Given the description of an element on the screen output the (x, y) to click on. 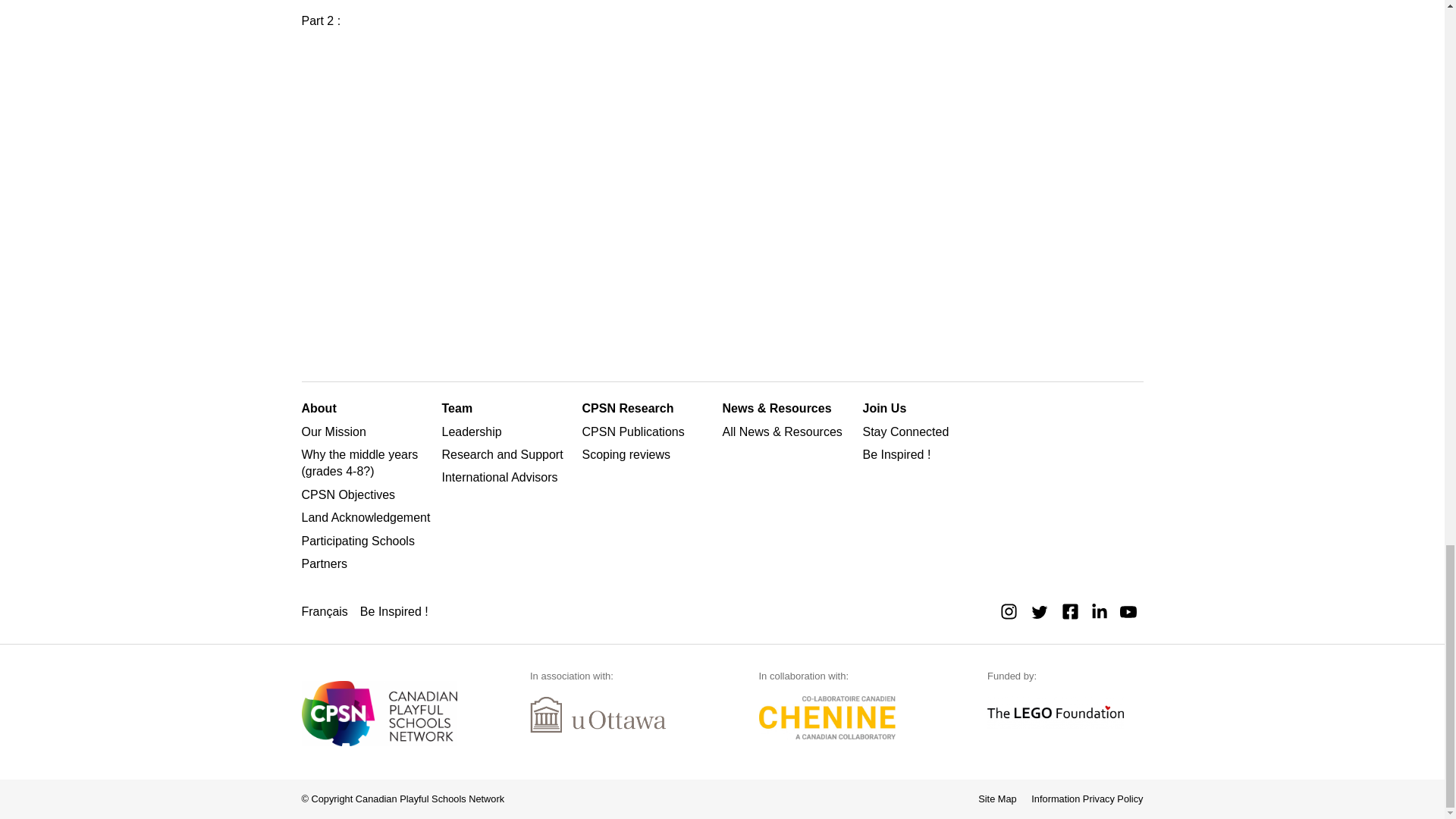
Land Acknowledgement (368, 517)
Research and Support (508, 454)
CPSN Objectives (368, 494)
Partners (368, 564)
CPSN Publications (649, 432)
International Advisors (508, 477)
Our Mission (368, 432)
Participating Schools (368, 541)
Scoping reviews (649, 454)
Leadership (508, 432)
